Given the description of an element on the screen output the (x, y) to click on. 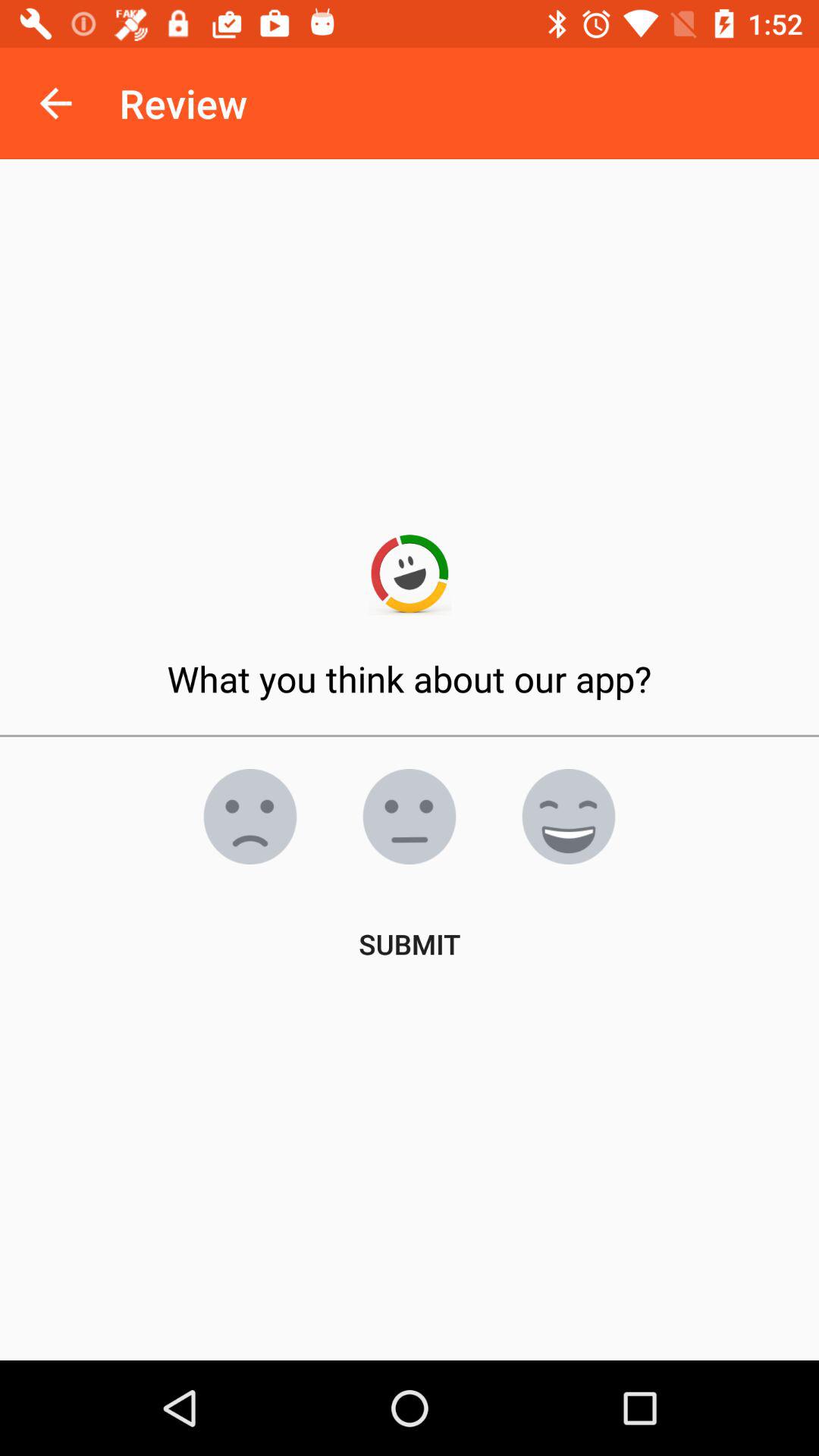
select negative emoji (409, 816)
